Given the description of an element on the screen output the (x, y) to click on. 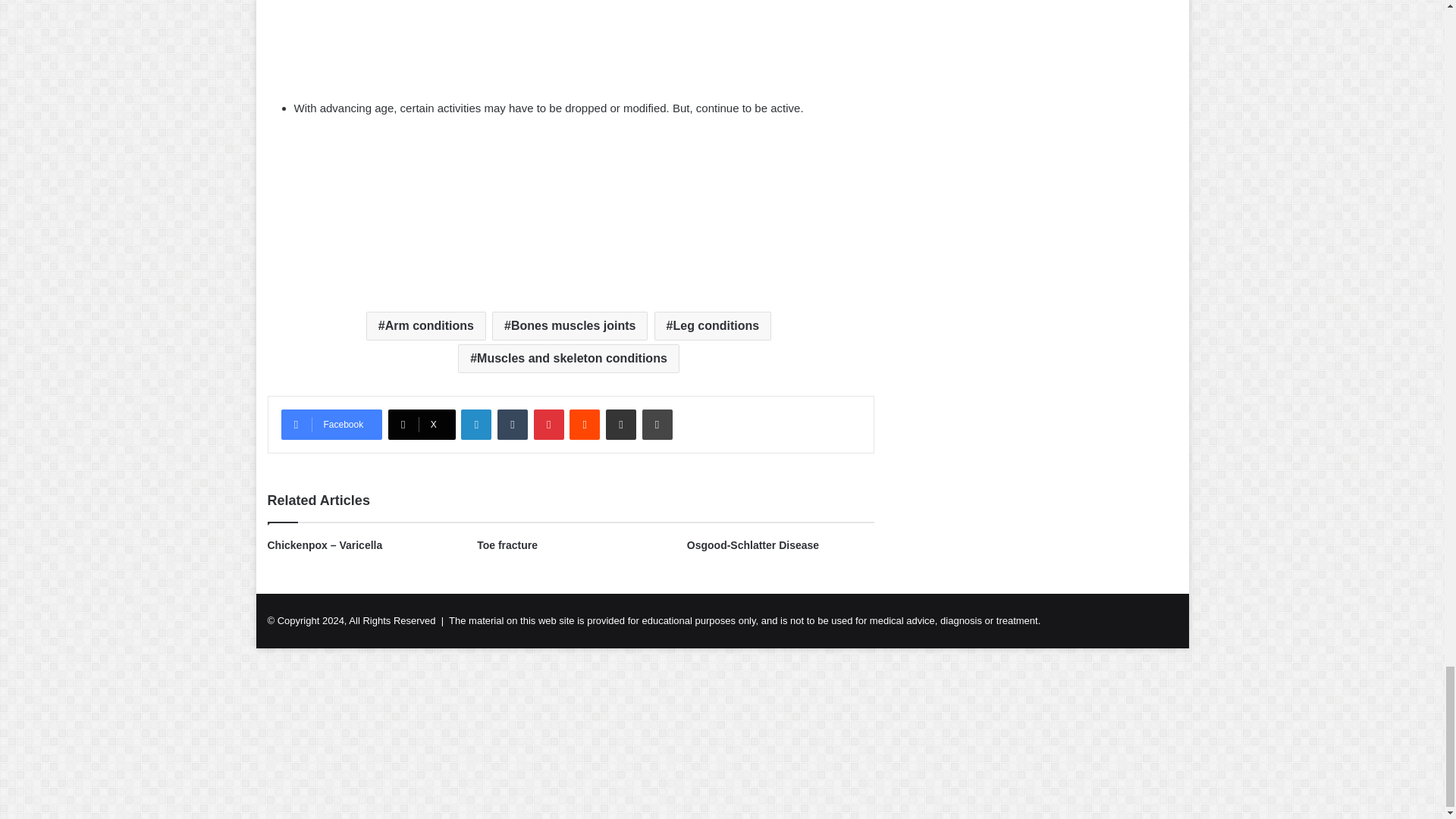
Bones muscles joints (569, 326)
Leg conditions (712, 326)
X (421, 424)
Facebook (331, 424)
Arm conditions (426, 326)
LinkedIn (476, 424)
